Given the description of an element on the screen output the (x, y) to click on. 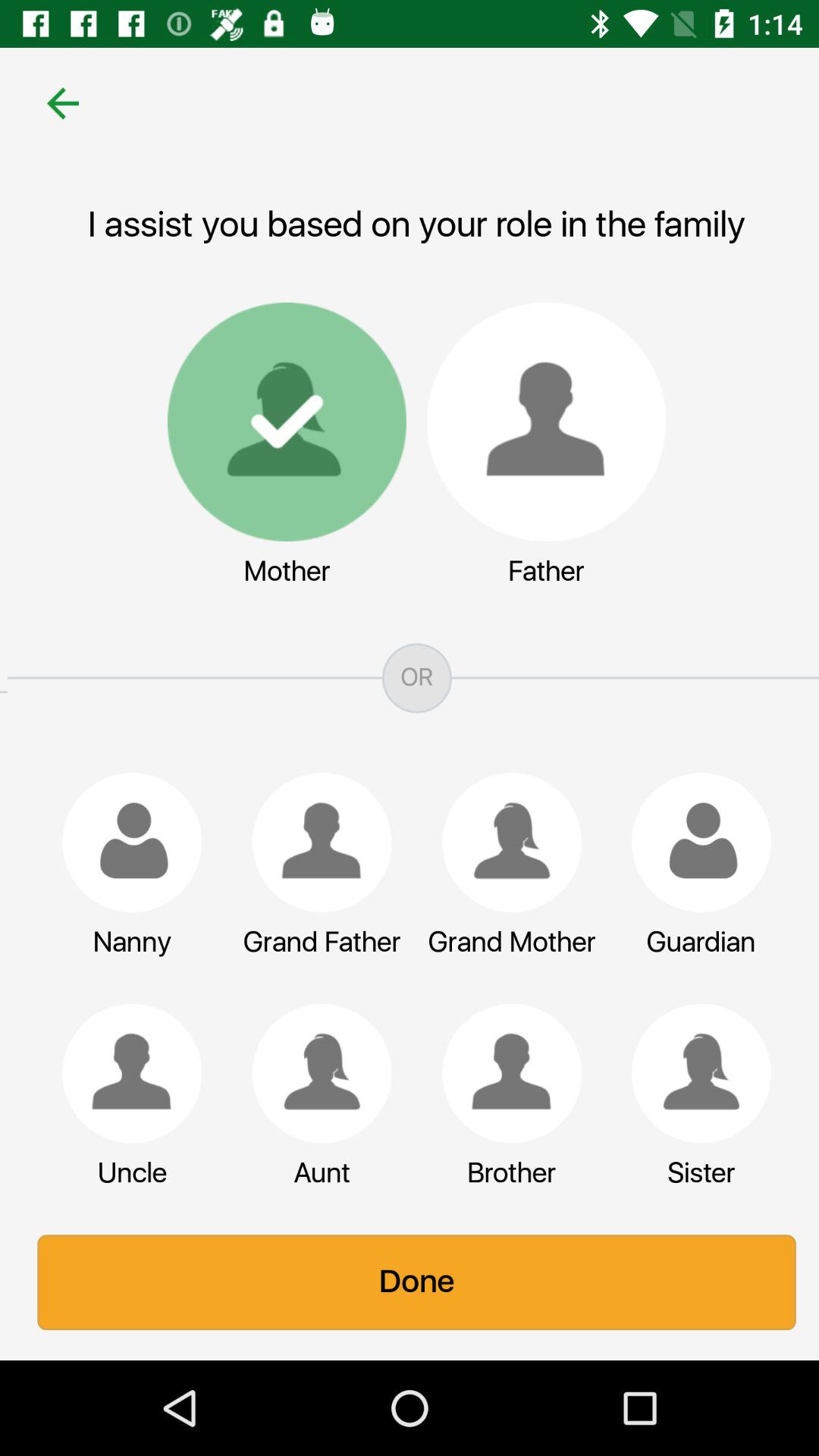
select the brother icon (504, 1073)
